Given the description of an element on the screen output the (x, y) to click on. 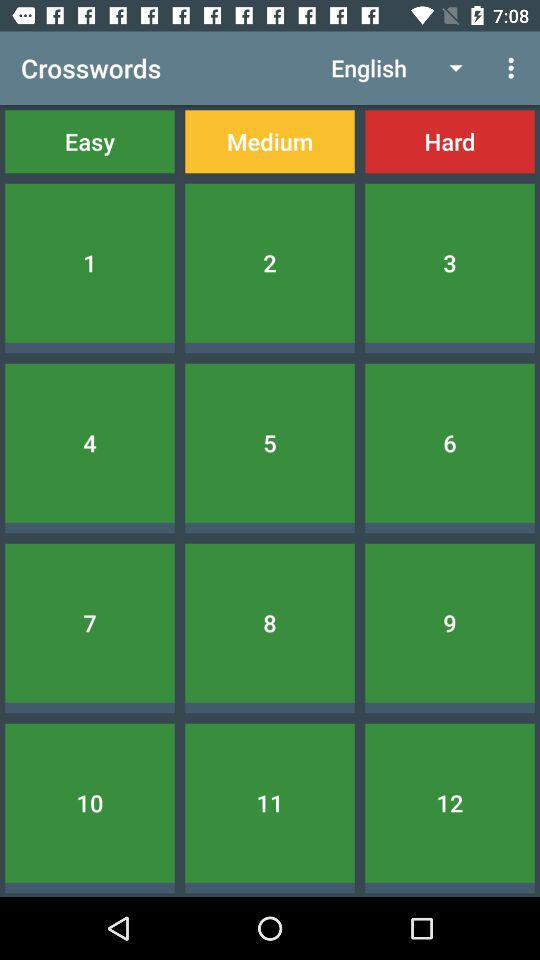
turn on 10 item (89, 802)
